Given the description of an element on the screen output the (x, y) to click on. 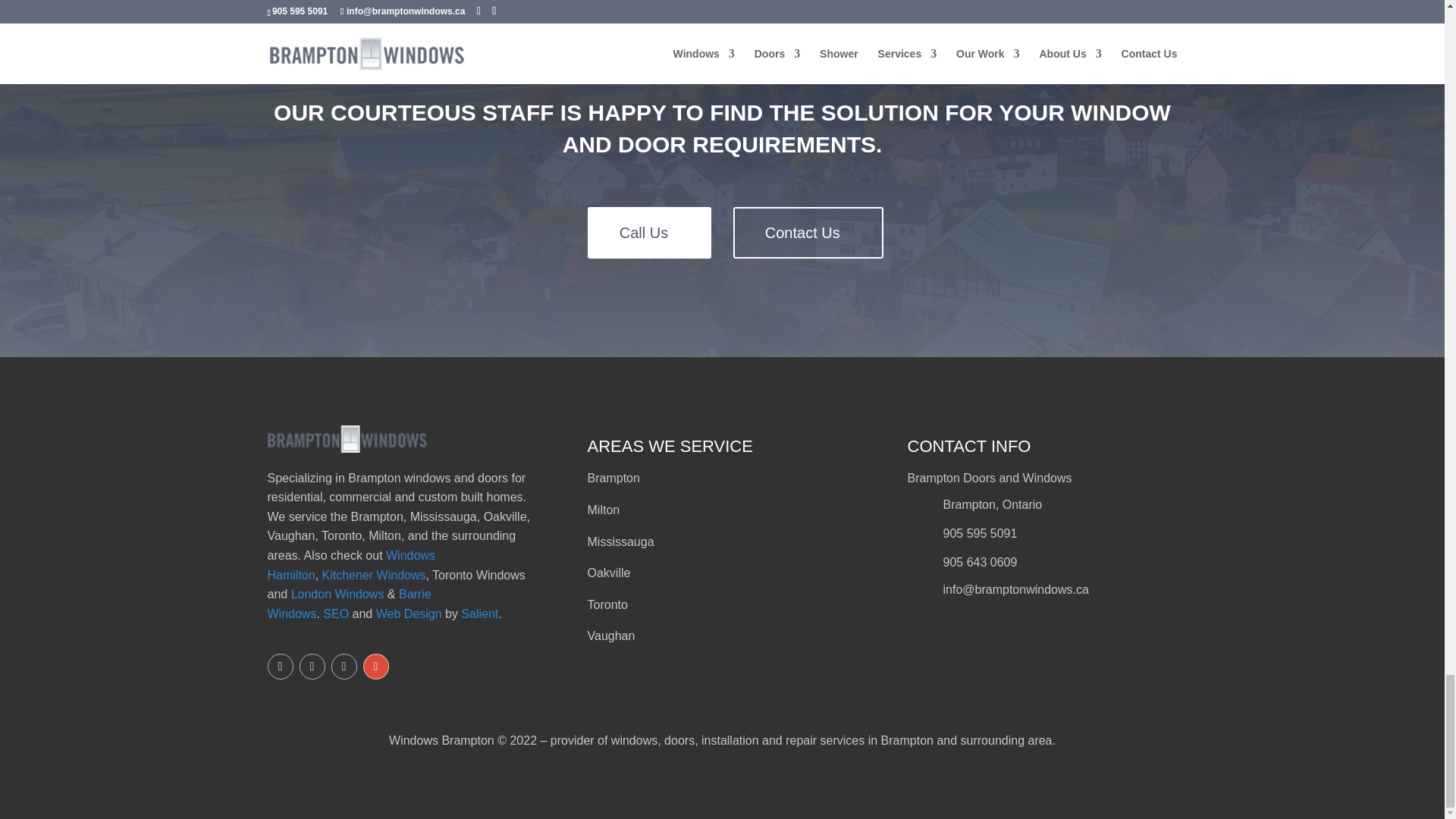
brampton-windows-2 (346, 438)
Follow on Youtube (343, 666)
Follow on Pinterest (311, 666)
Follow on Twitter (279, 666)
